Given the description of an element on the screen output the (x, y) to click on. 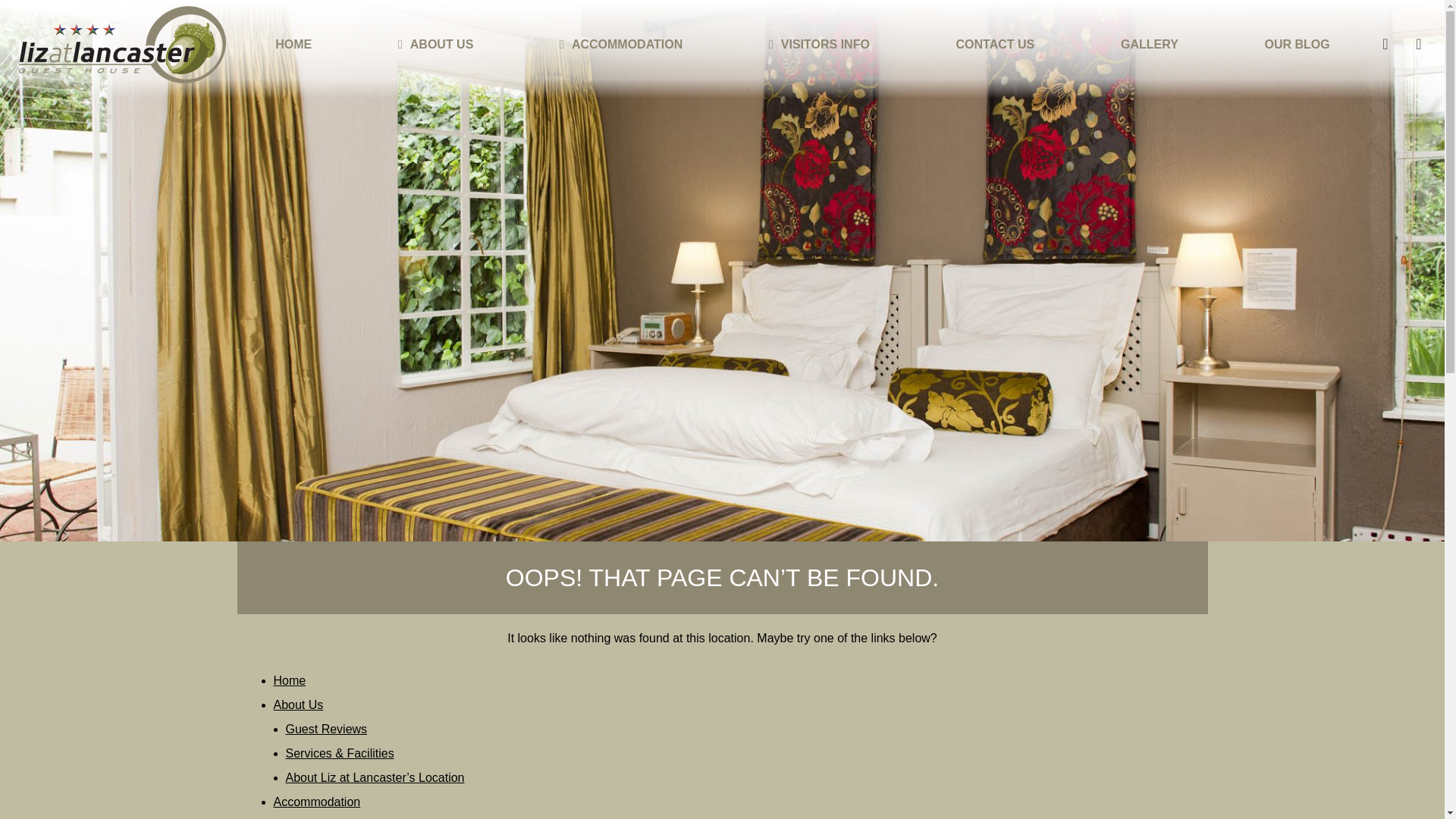
CONTACT US (994, 44)
Guest Reviews (325, 728)
VISITORS INFO (824, 43)
OUR BLOG (1297, 44)
HOME (293, 44)
ABOUT US (442, 43)
Book Rosebank Johannesburg Guest Accommodation Online (1385, 44)
Home (289, 680)
About Us (298, 704)
